Given the description of an element on the screen output the (x, y) to click on. 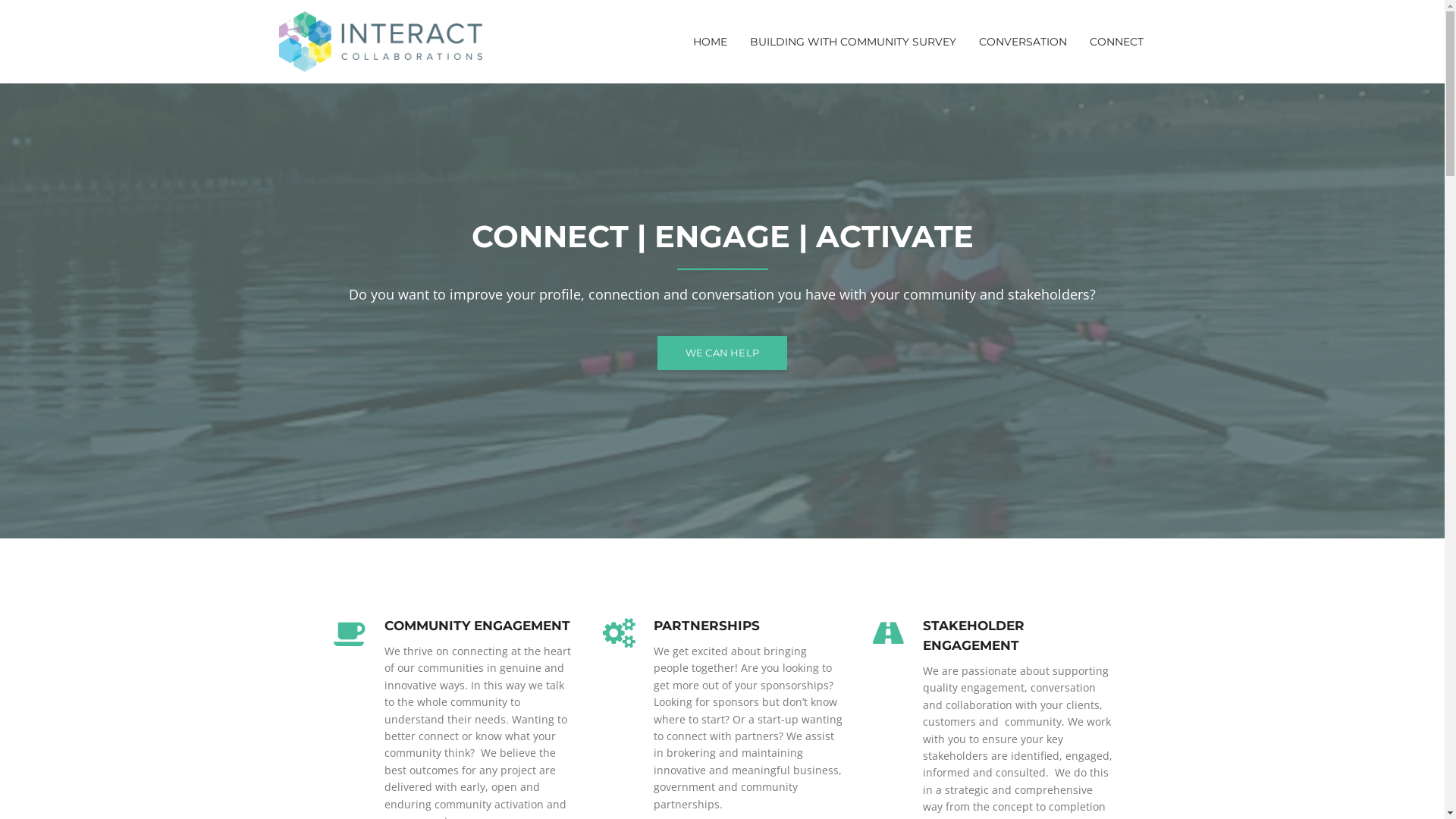
WE CAN HELP Element type: text (722, 352)
CONVERSATION Element type: text (1022, 41)
Skip to content Element type: text (0, 0)
CONNECT Element type: text (1116, 41)
Interact Collaborations Element type: hover (381, 40)
HOME Element type: text (708, 41)
BUILDING WITH COMMUNITY SURVEY Element type: text (852, 41)
